Given the description of an element on the screen output the (x, y) to click on. 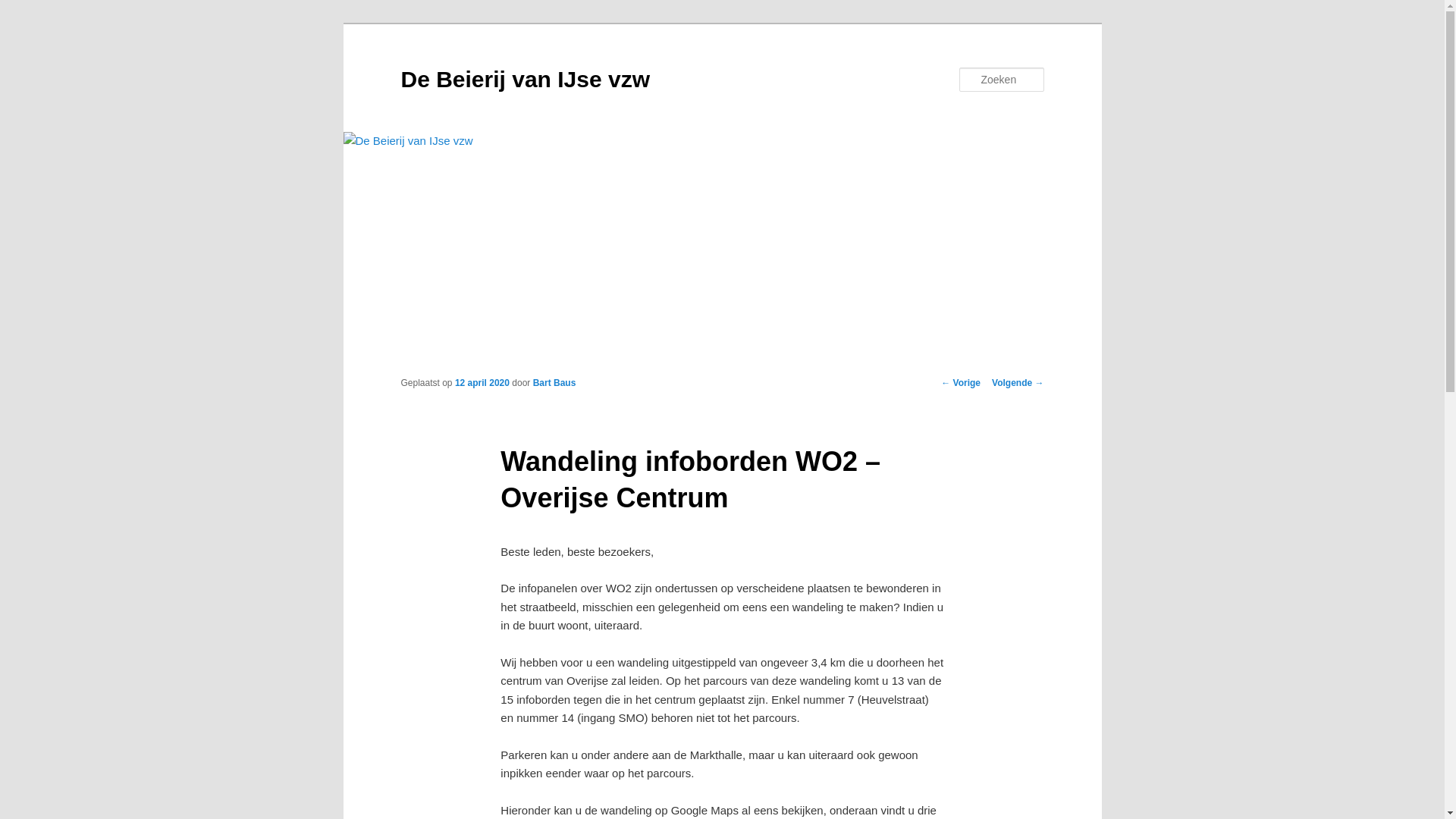
Spring naar de primaire inhoud Element type: text (22, 22)
Bart Baus Element type: text (554, 382)
12 april 2020 Element type: text (482, 382)
Zoeken Element type: text (25, 8)
De Beierij van IJse vzw Element type: text (524, 78)
